Given the description of an element on the screen output the (x, y) to click on. 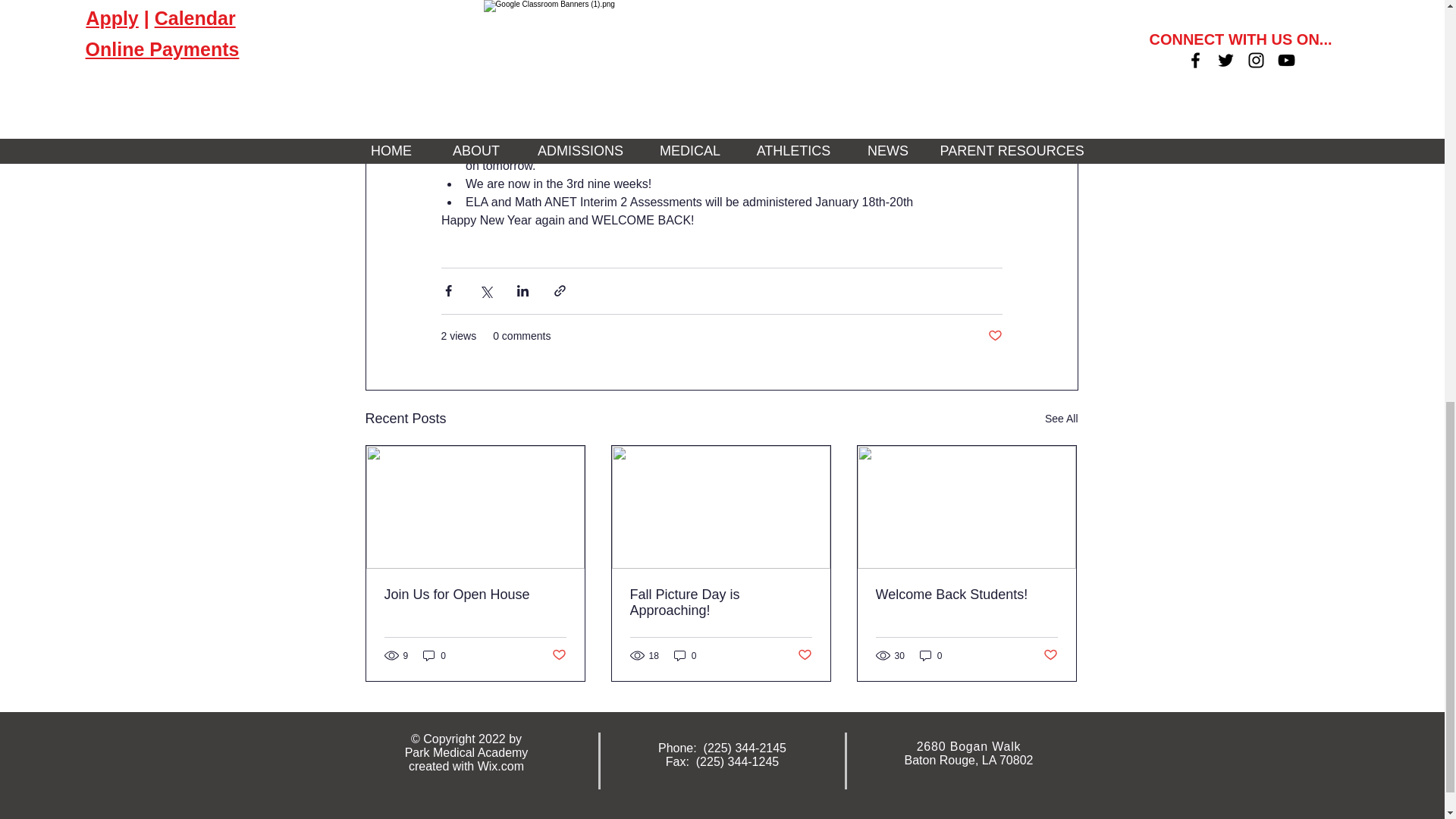
Post not marked as liked (558, 655)
Fall Picture Day is Approaching! (719, 603)
0 (434, 655)
0 (685, 655)
Post not marked as liked (994, 335)
See All (1061, 418)
Post not marked as liked (804, 655)
Join Us for Open House (475, 594)
